Given the description of an element on the screen output the (x, y) to click on. 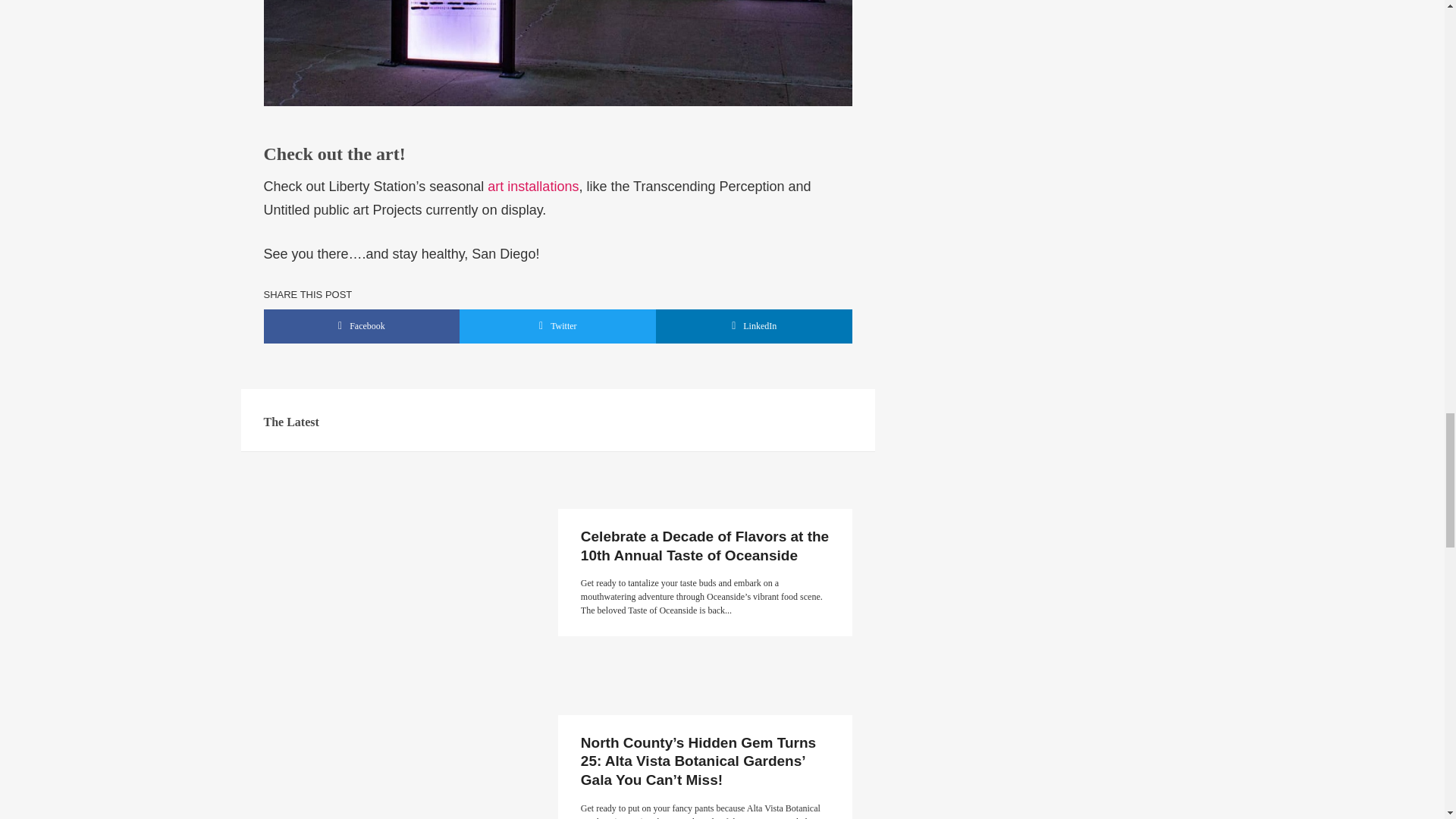
Twitter (558, 326)
LinkedIn (753, 326)
Facebook (361, 326)
art installations (532, 186)
